Given the description of an element on the screen output the (x, y) to click on. 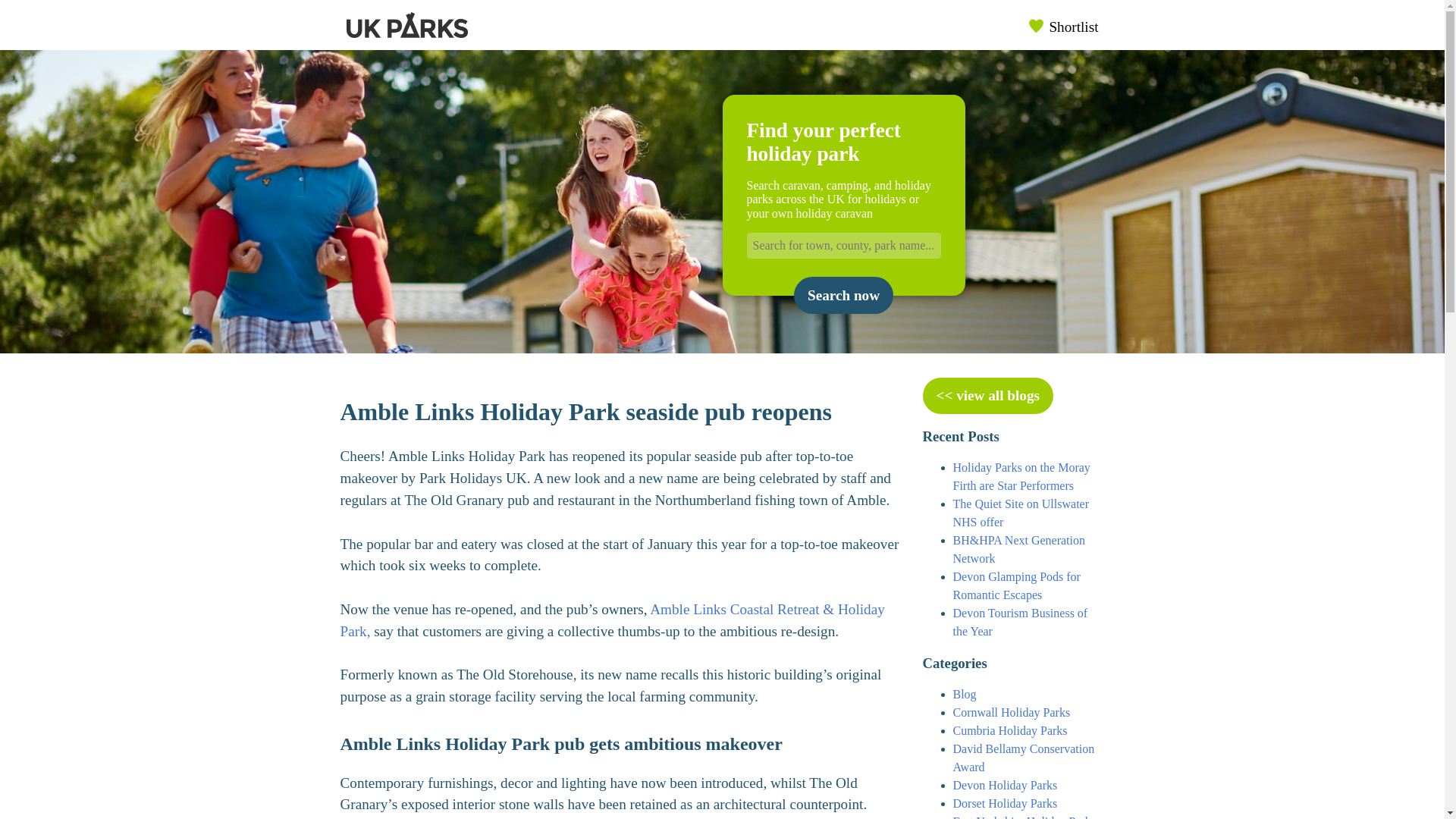
Devon Holiday Parks (1004, 784)
Cornwall Holiday Parks (1011, 712)
Dorset Holiday Parks (1004, 802)
Devon Glamping Pods for Romantic Escapes (1016, 585)
Holiday Parks on the Moray Firth are Star Performers (1020, 476)
Devon Tourism Business of the Year (1019, 622)
Blog (963, 694)
East Yorkshire Holiday Parks (1023, 816)
David Bellamy Conservation Award (1023, 757)
Shortlist (1063, 25)
Search now (843, 294)
The Quiet Site on Ullswater NHS offer (1020, 512)
Cumbria Holiday Parks (1009, 730)
